Given the description of an element on the screen output the (x, y) to click on. 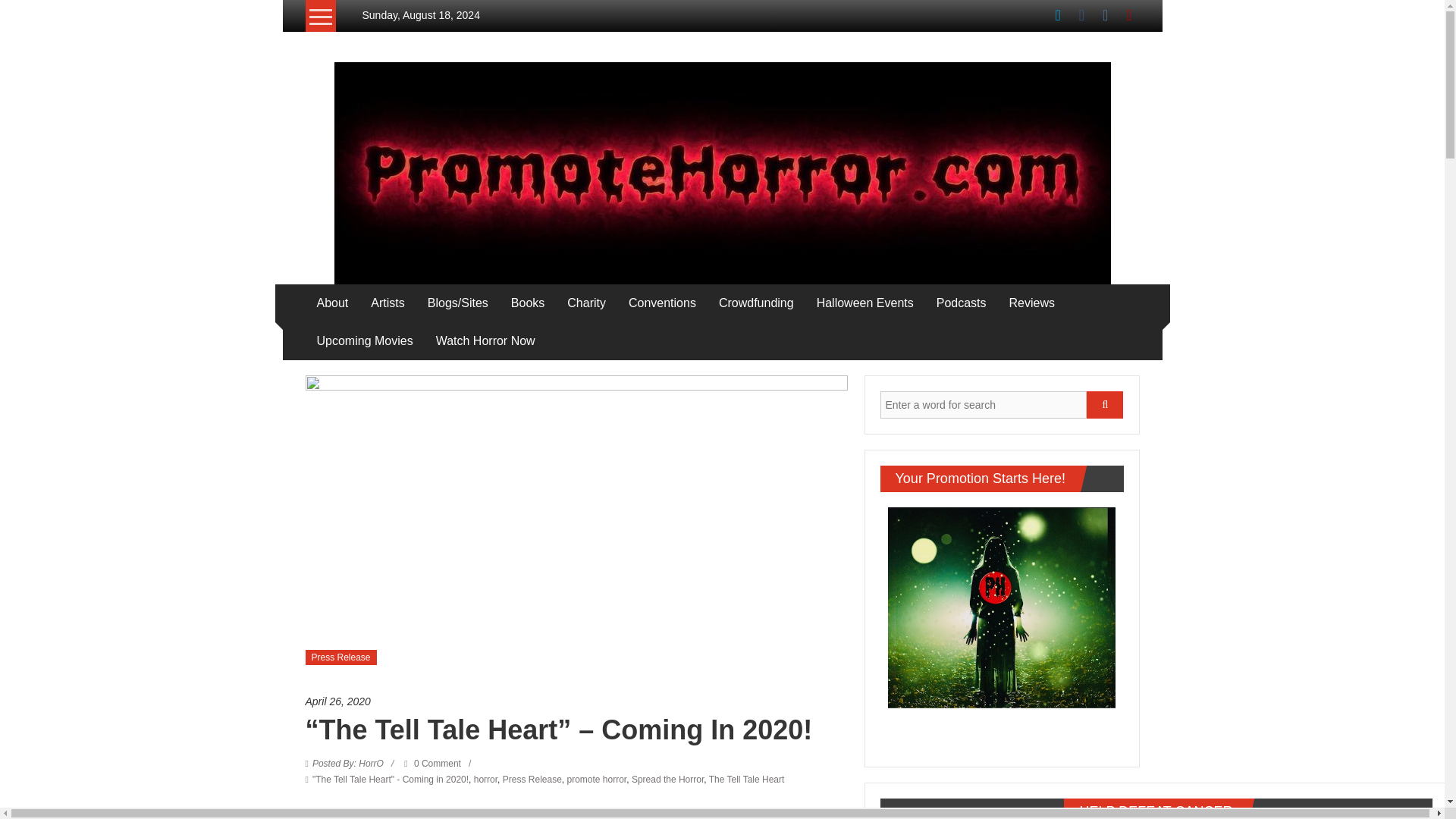
"The Tell Tale Heart" - Coming in 2020! (390, 778)
Watch Horror Now (485, 341)
HorrO (348, 763)
April 26, 2020 (575, 701)
0 Comment (432, 763)
Press Release (339, 657)
Conventions (661, 303)
Posted By: HorrO (348, 763)
Crowdfunding (756, 303)
